Given the description of an element on the screen output the (x, y) to click on. 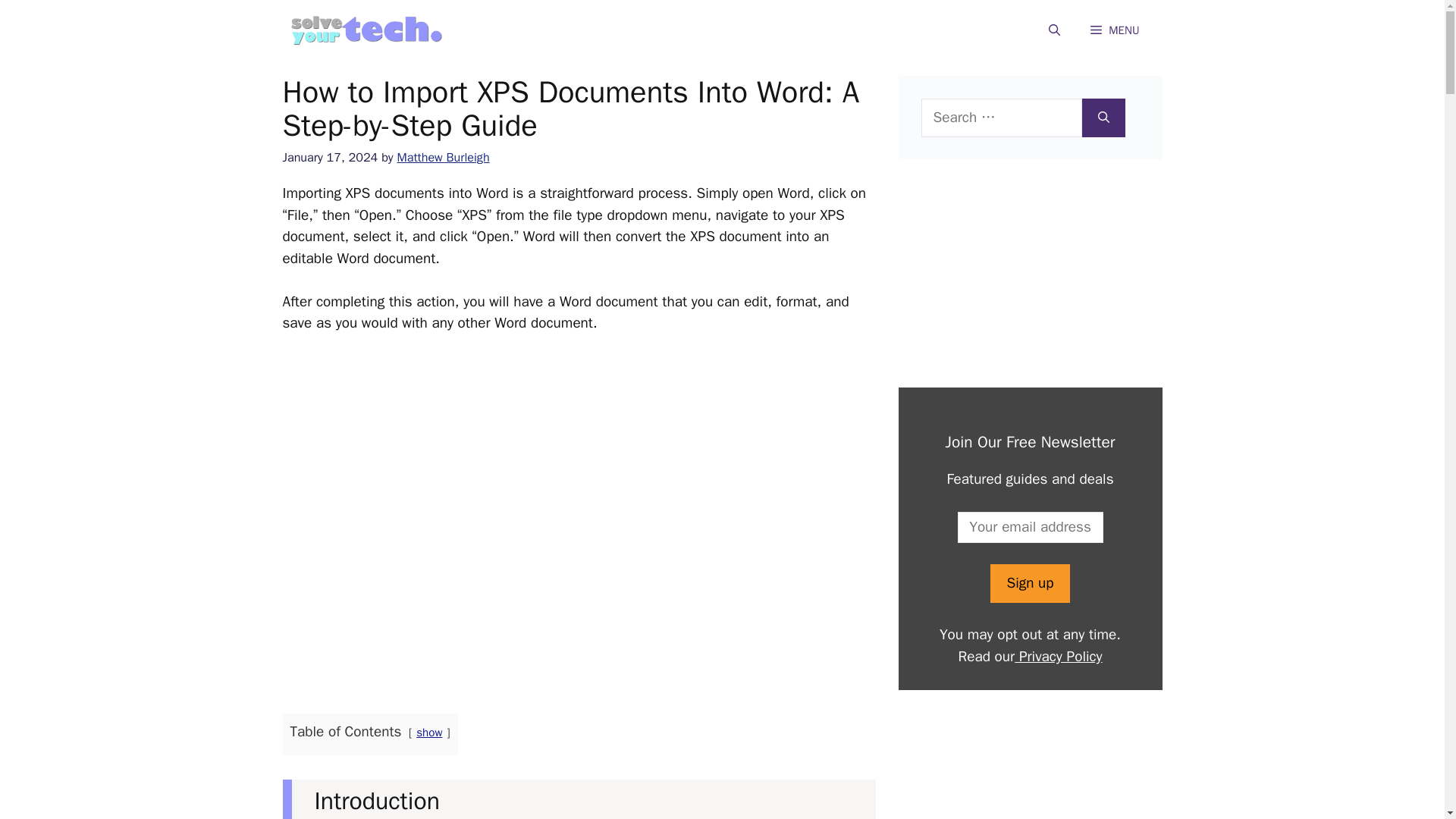
Matthew Burleigh (442, 157)
Sign up (1029, 583)
MENU (1114, 30)
show (429, 732)
